Given the description of an element on the screen output the (x, y) to click on. 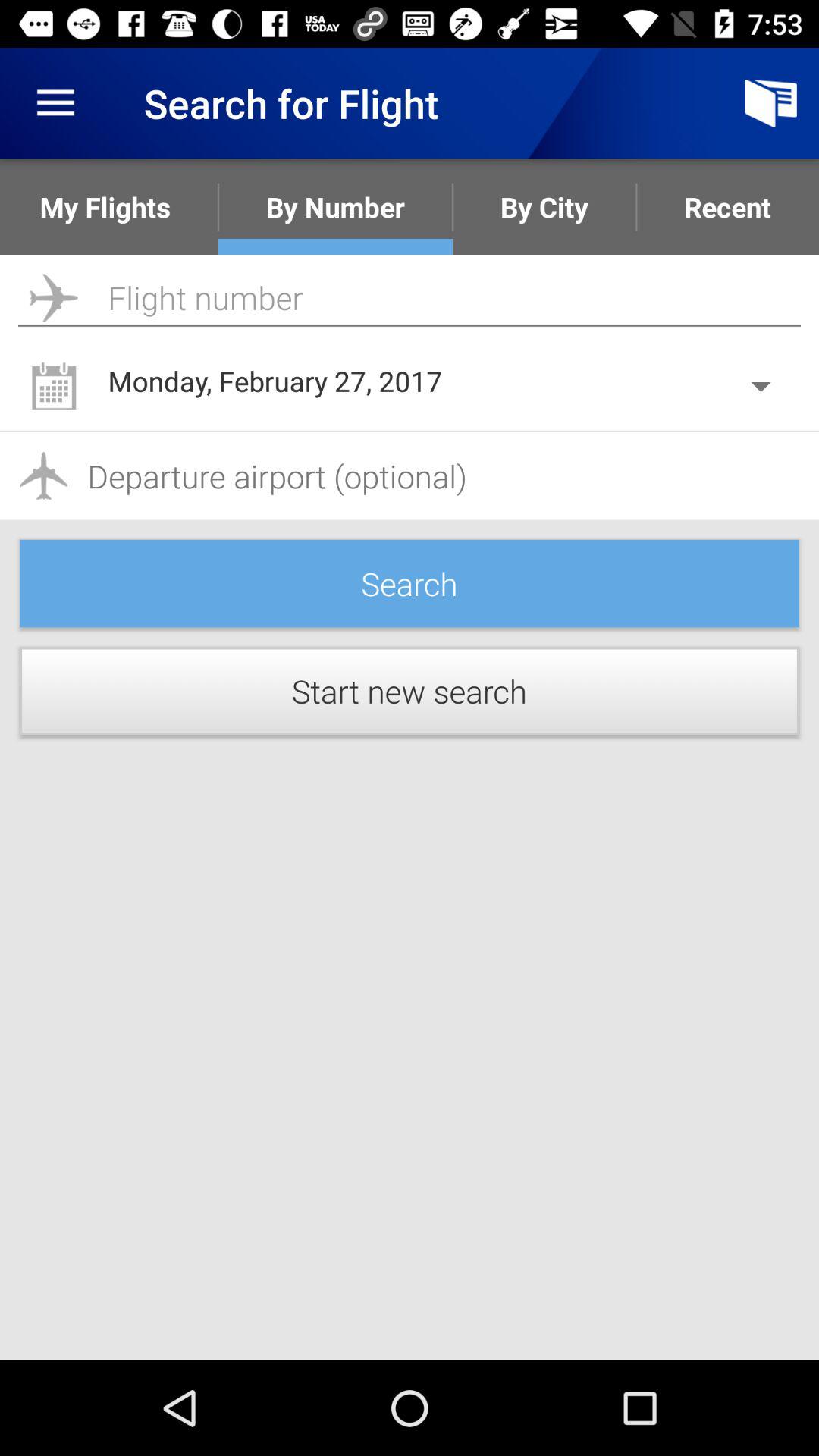
choose departure airport optional (409, 475)
